Given the description of an element on the screen output the (x, y) to click on. 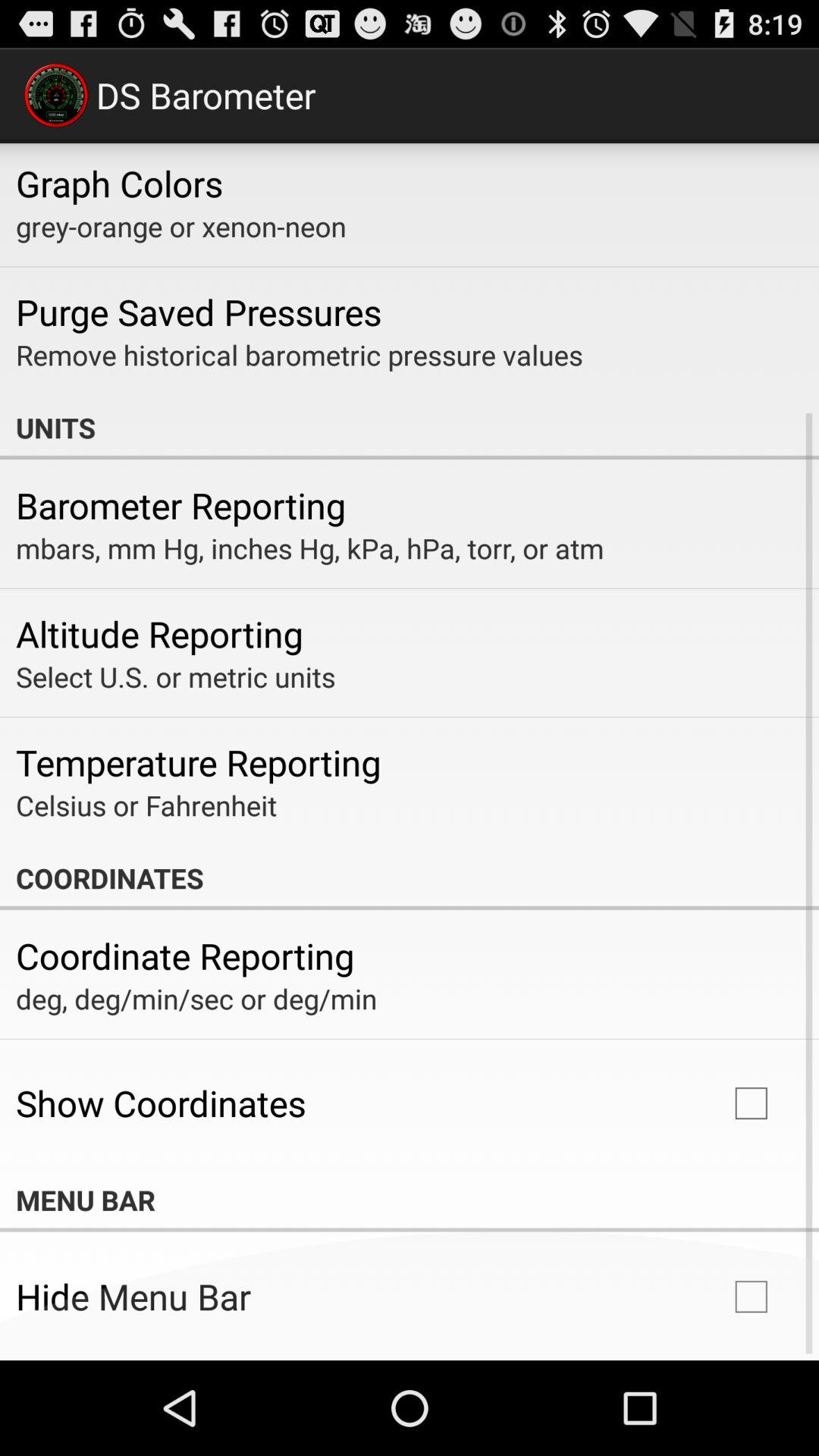
select app below the temperature reporting icon (145, 805)
